Given the description of an element on the screen output the (x, y) to click on. 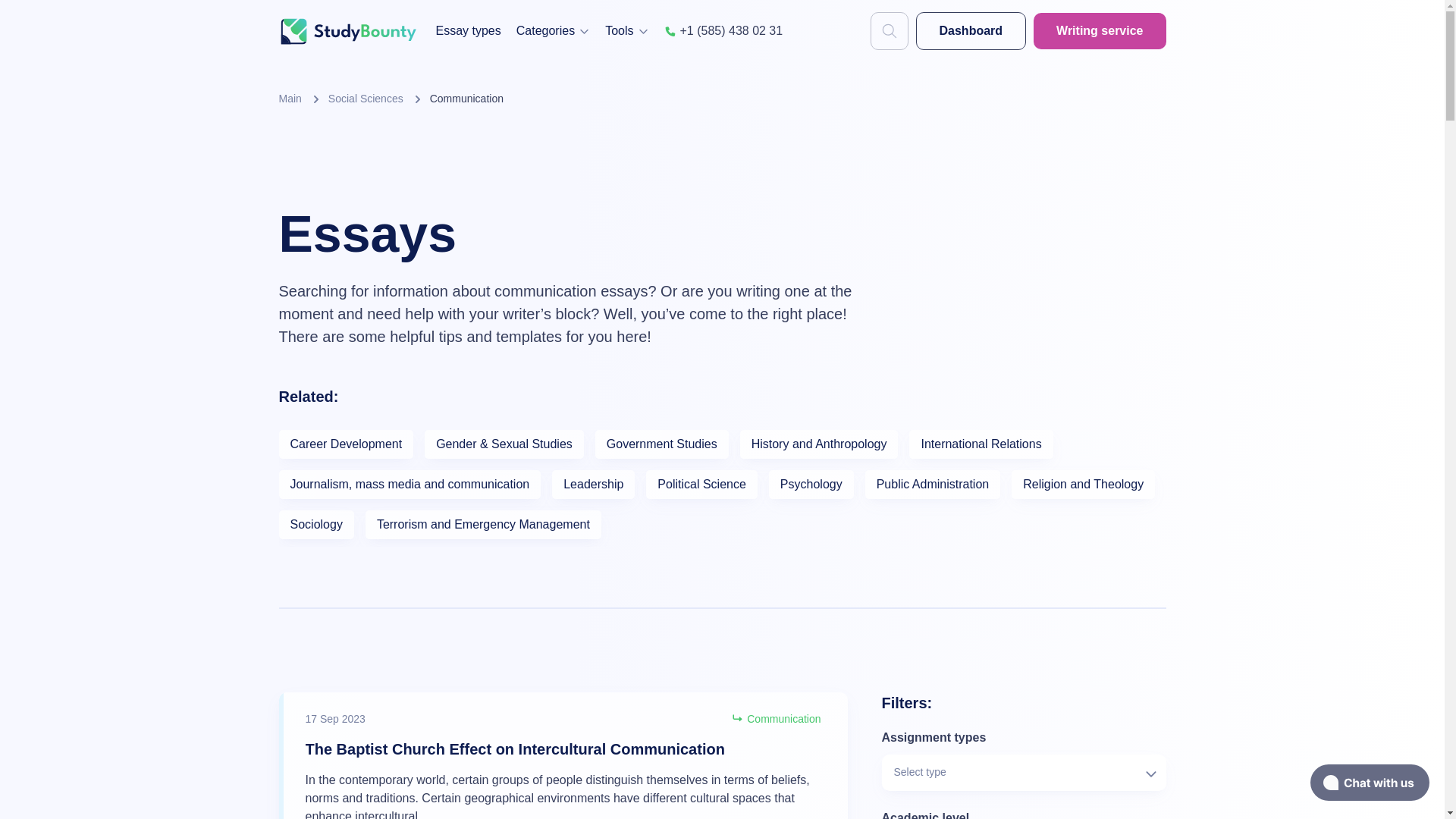
Essay types (467, 30)
Categories (552, 31)
